Given the description of an element on the screen output the (x, y) to click on. 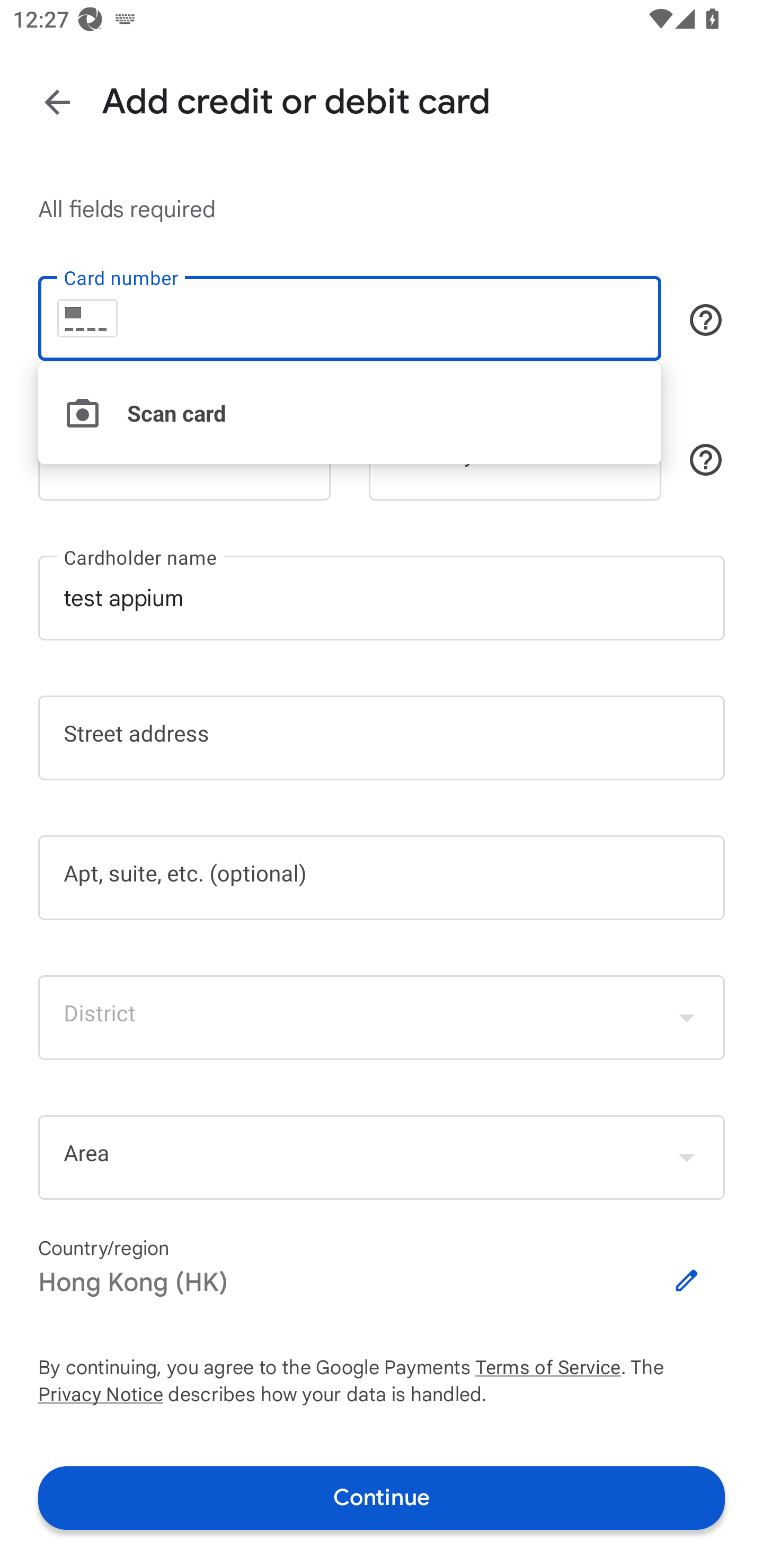
Back (57, 102)
Card number (349, 317)
Button, shows cards that are accepted for payment (705, 319)
Security code help (705, 459)
test appium (381, 597)
Street address (381, 738)
Apt, suite, etc. (optional) (381, 877)
District (381, 1017)
Show dropdown menu (686, 1017)
Area (381, 1156)
Show dropdown menu (686, 1156)
country edit button (686, 1279)
Terms of Service (547, 1367)
Privacy Notice (100, 1395)
Continue (381, 1498)
